Given the description of an element on the screen output the (x, y) to click on. 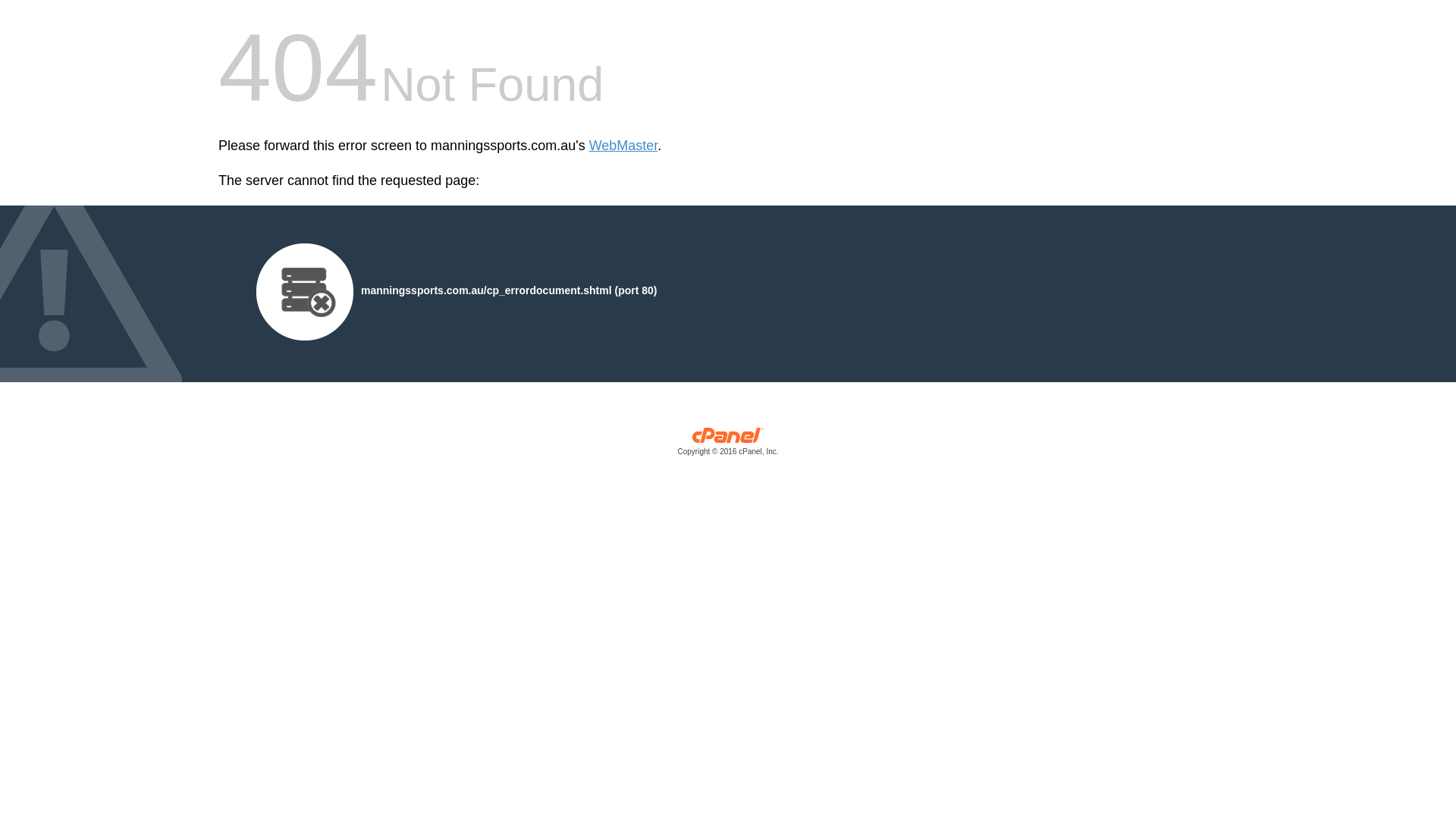
WebMaster Element type: text (623, 145)
